Given the description of an element on the screen output the (x, y) to click on. 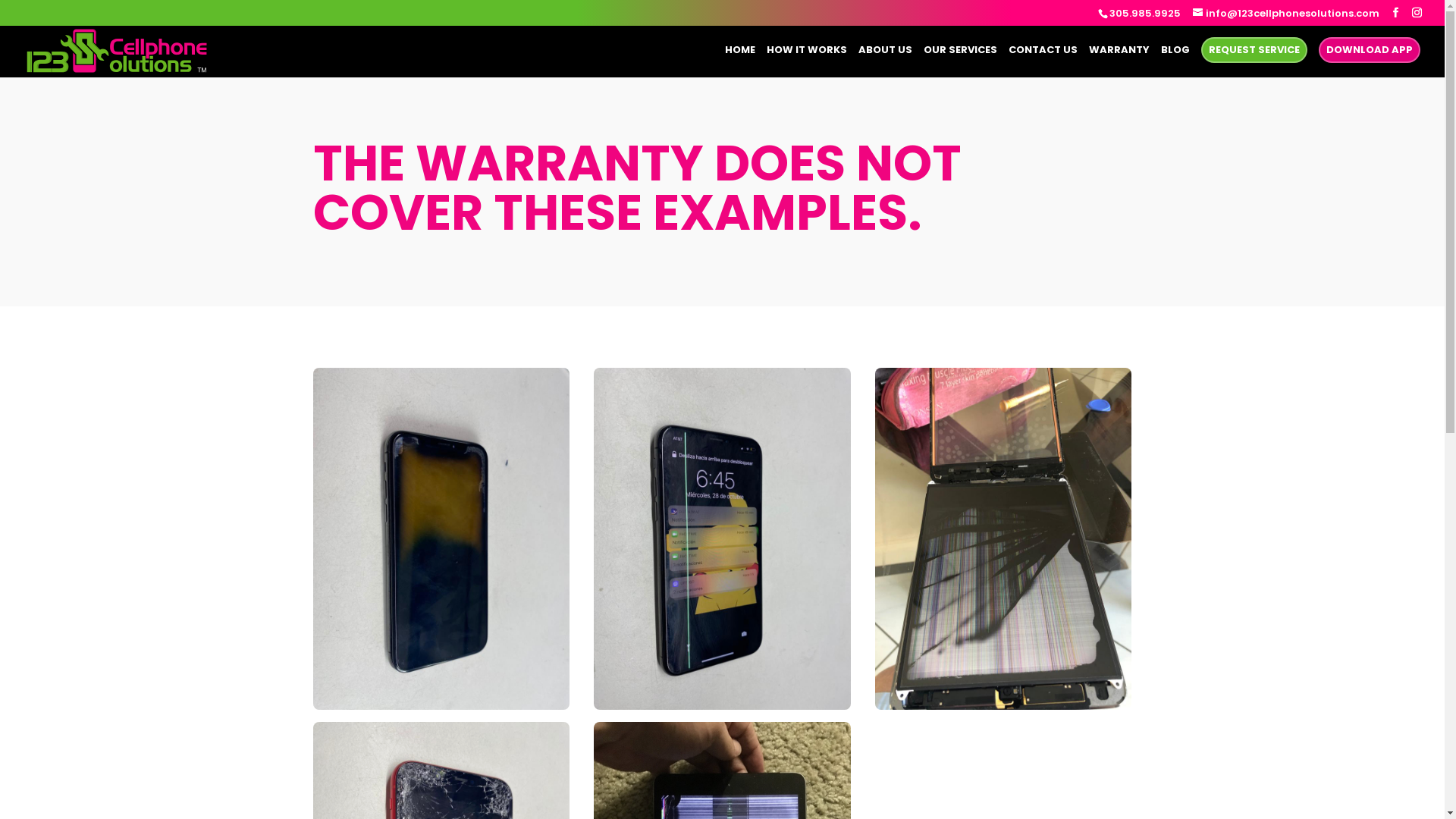
OUR SERVICES Element type: text (960, 59)
info@123cellphonesolutions.com Element type: text (1285, 13)
DOWNLOAD APP Element type: text (1369, 49)
no-warranty-02 Element type: hover (721, 538)
REQUEST SERVICE Element type: text (1254, 49)
no-warranty-03 Element type: hover (1003, 538)
CONTACT US Element type: text (1042, 59)
BLOG Element type: text (1175, 59)
WARRANTY Element type: text (1118, 59)
no-warranty-01 Element type: hover (440, 538)
HOW IT WORKS Element type: text (806, 59)
ABOUT US Element type: text (885, 59)
305.985.9925 Element type: text (1144, 13)
HOME Element type: text (739, 59)
